Given the description of an element on the screen output the (x, y) to click on. 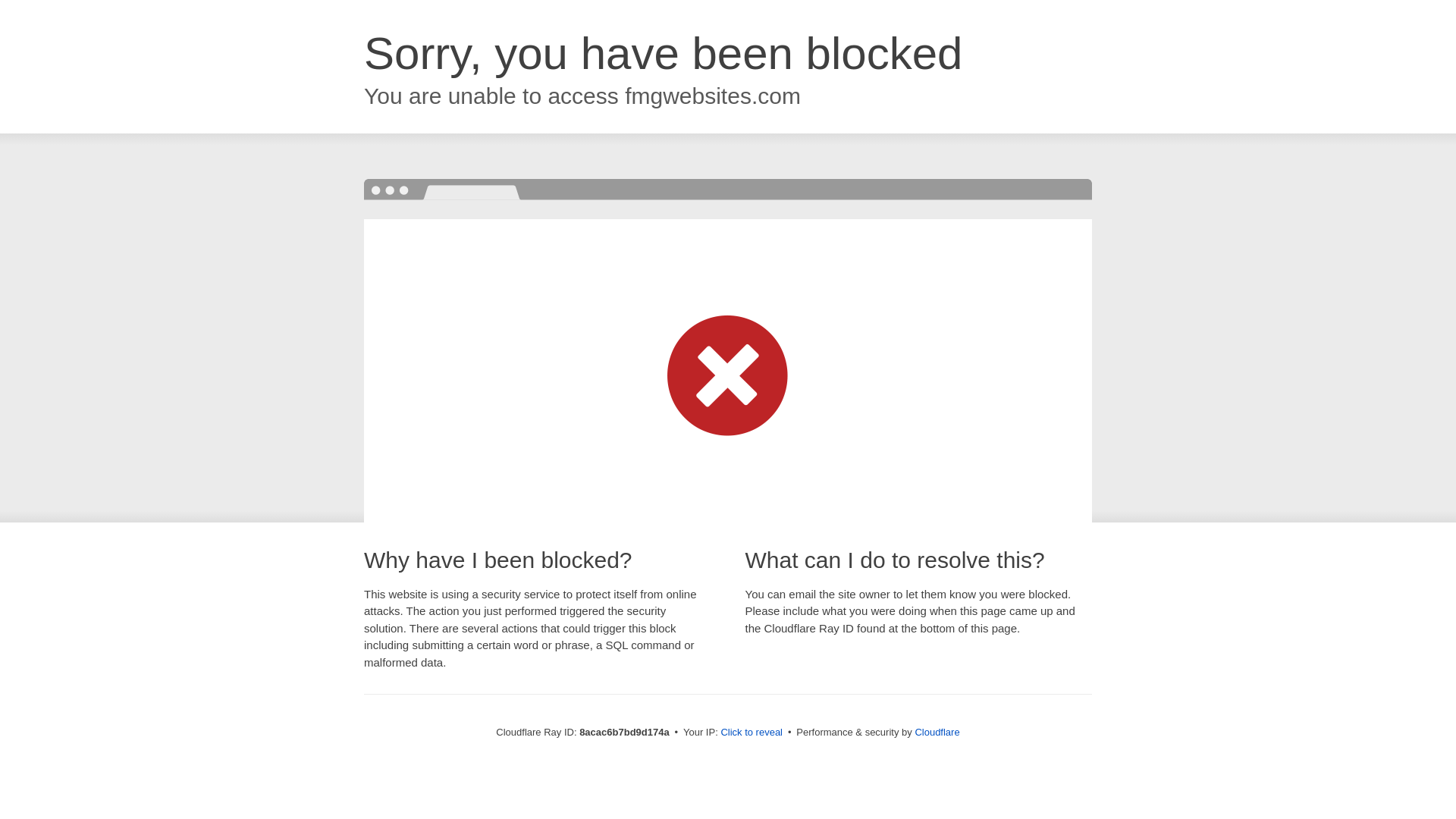
Cloudflare (936, 731)
Click to reveal (751, 732)
